Given the description of an element on the screen output the (x, y) to click on. 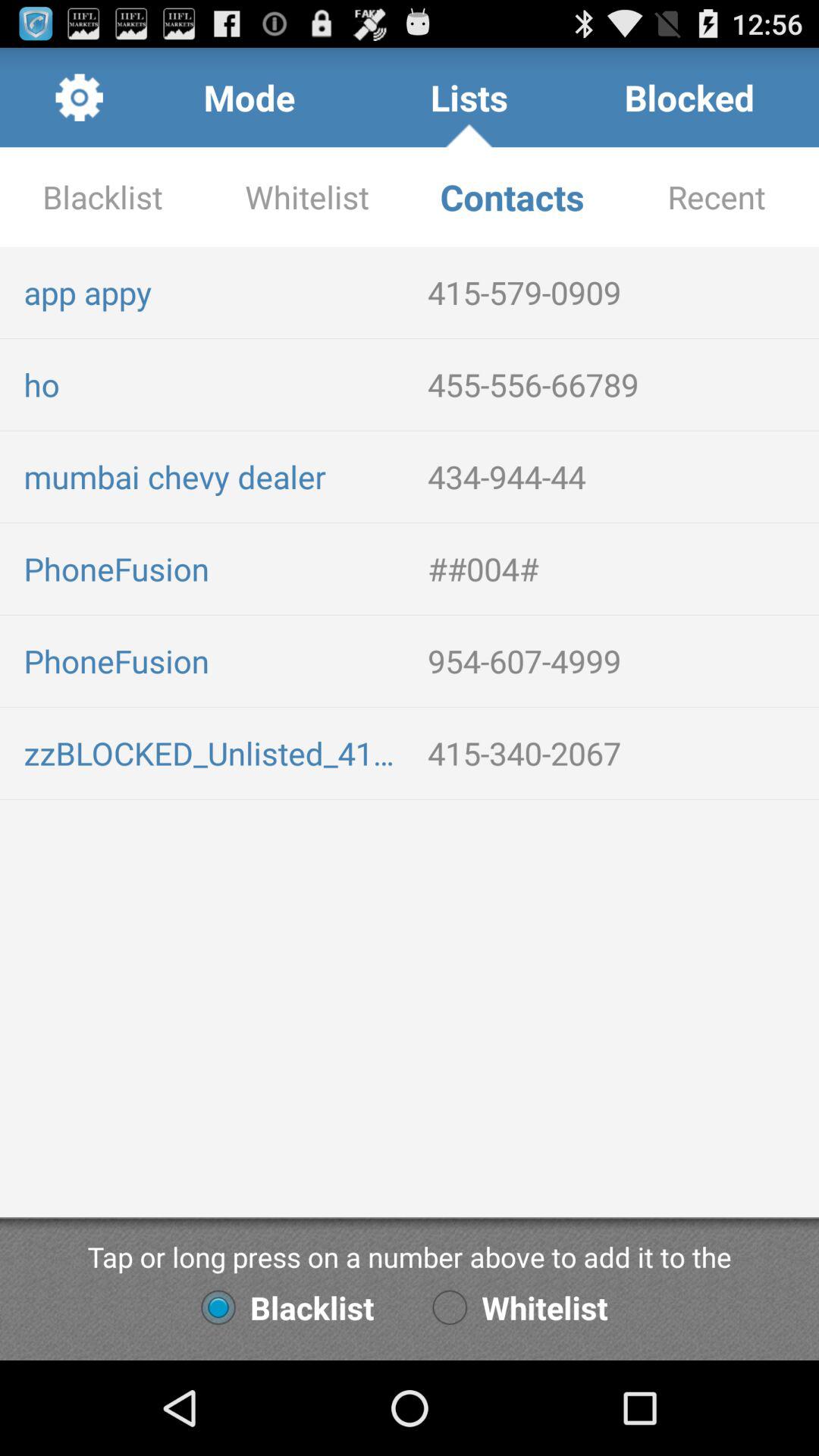
press the item to the right of ho item (617, 384)
